Given the description of an element on the screen output the (x, y) to click on. 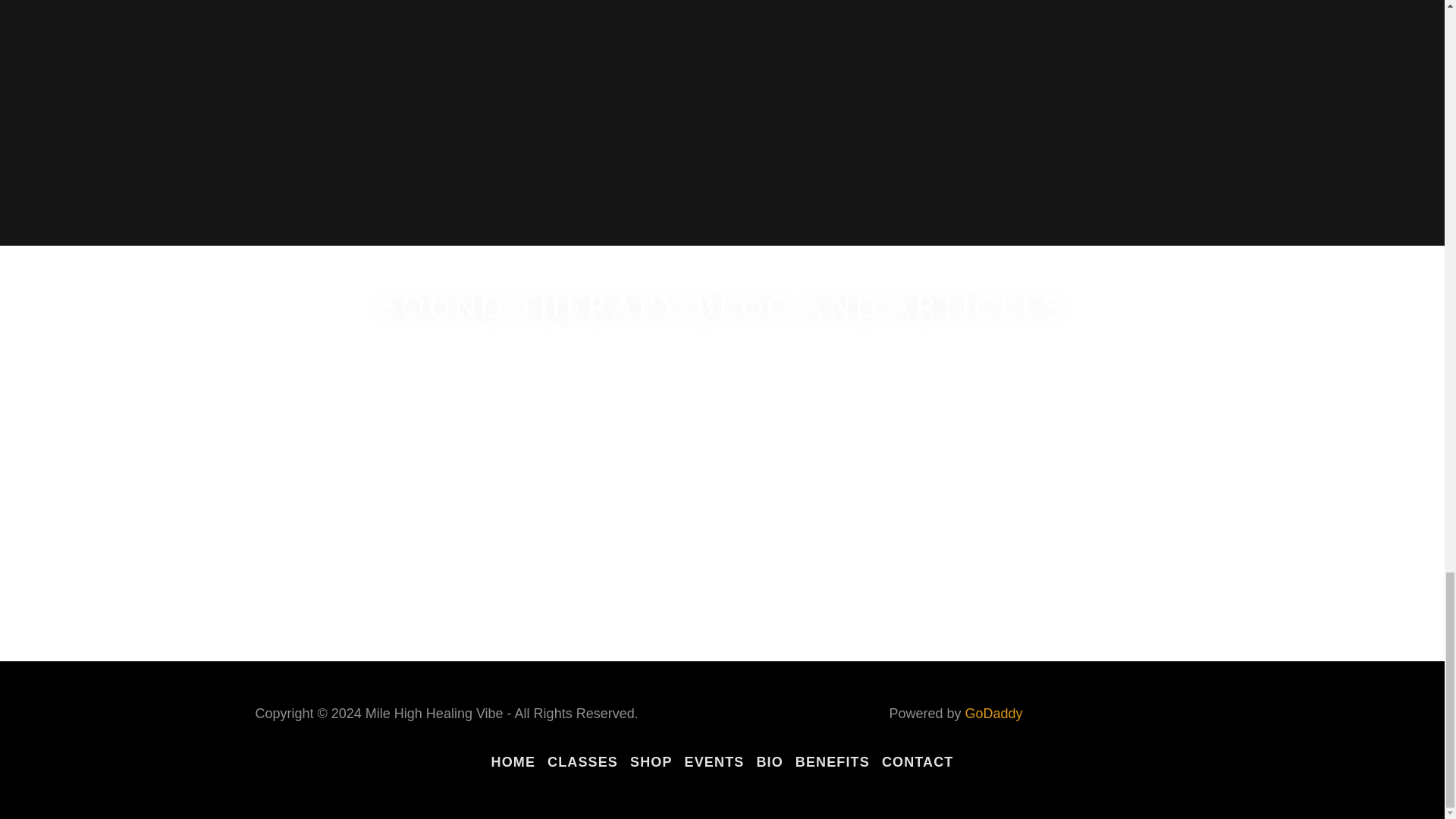
CLASSES (582, 762)
EVENTS (714, 762)
GoDaddy (992, 713)
SHOP (651, 762)
BIO (769, 762)
HOME (512, 762)
